Given the description of an element on the screen output the (x, y) to click on. 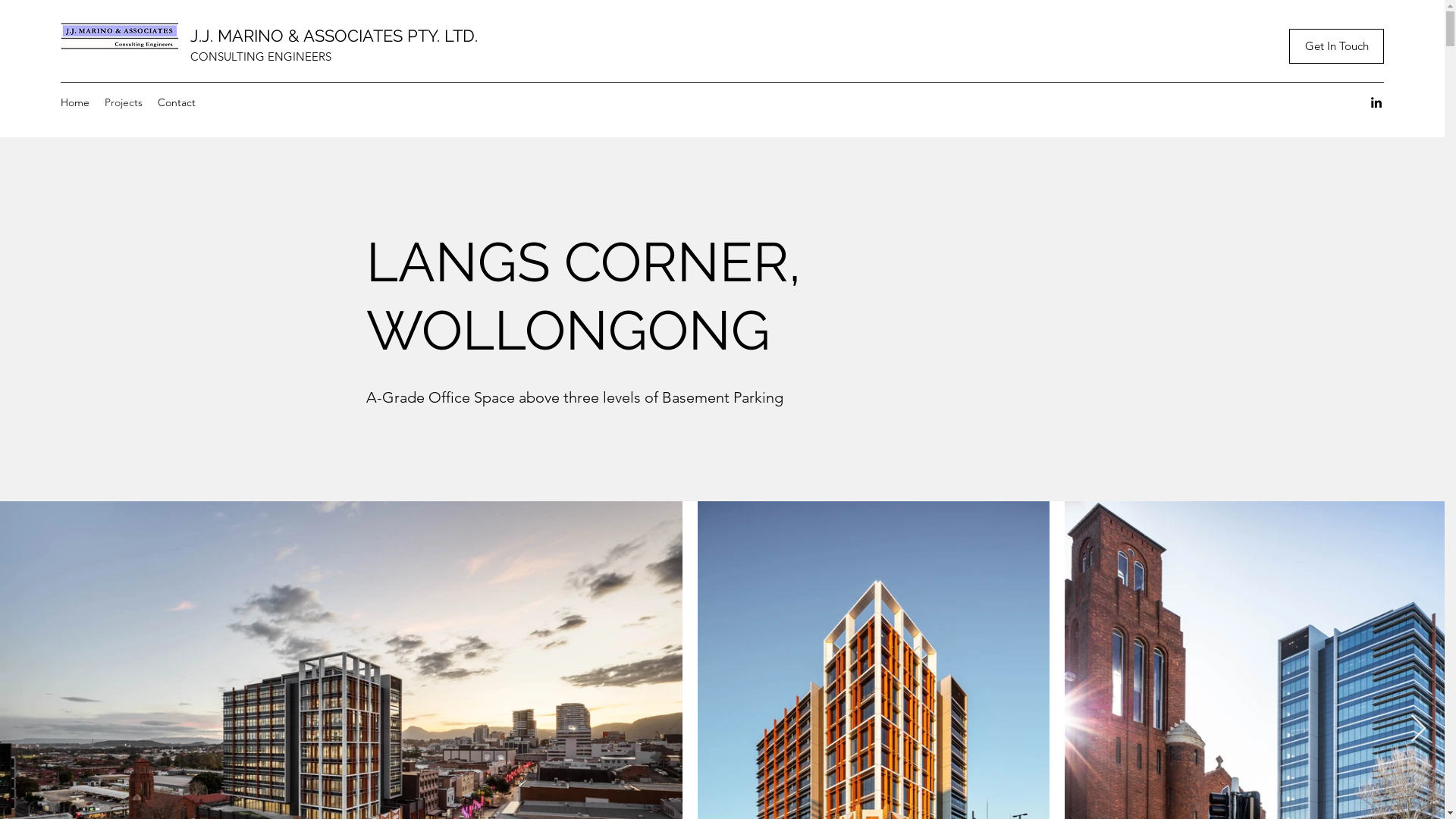
Projects Element type: text (123, 102)
J.J. MARINO & ASSOCIATES PTY. LTD. Element type: text (333, 35)
Contact Element type: text (176, 102)
Home Element type: text (75, 102)
Get In Touch Element type: text (1336, 45)
